Given the description of an element on the screen output the (x, y) to click on. 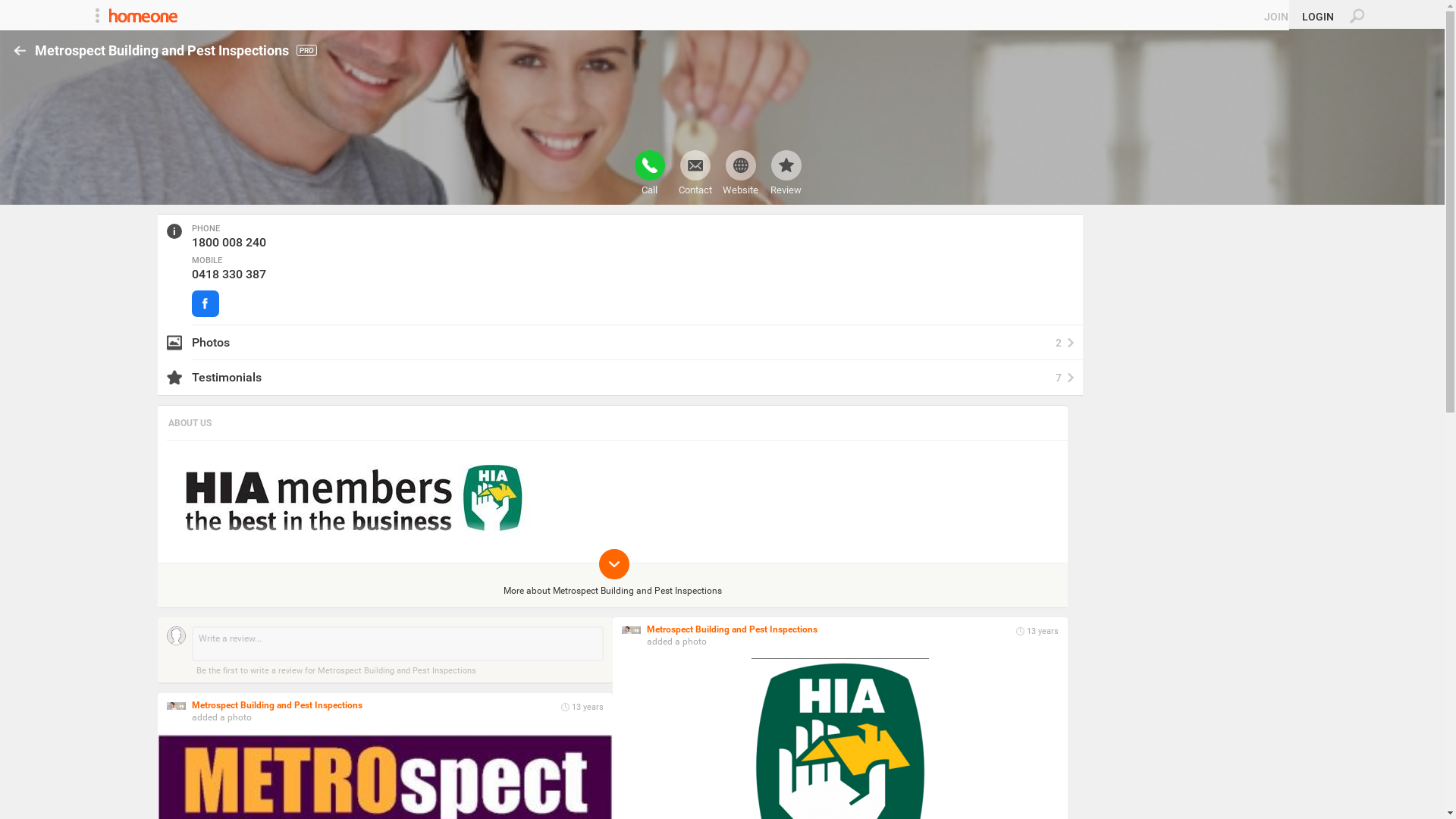
Metrospect Building and Pest Inspections Element type: text (276, 704)
Website Element type: text (739, 172)
1800 008 240 Element type: text (228, 242)
Visit Metrospect Building and Pest Inspections on Facebook Element type: text (205, 303)
0418 330 387 Element type: text (228, 273)
7
Testimonials Element type: text (619, 377)
2
Photos Element type: text (619, 342)
Submit Element type: text (18, 8)
Call Element type: text (648, 172)
Metrospect Building and Pest Inspections Element type: text (731, 629)
